Given the description of an element on the screen output the (x, y) to click on. 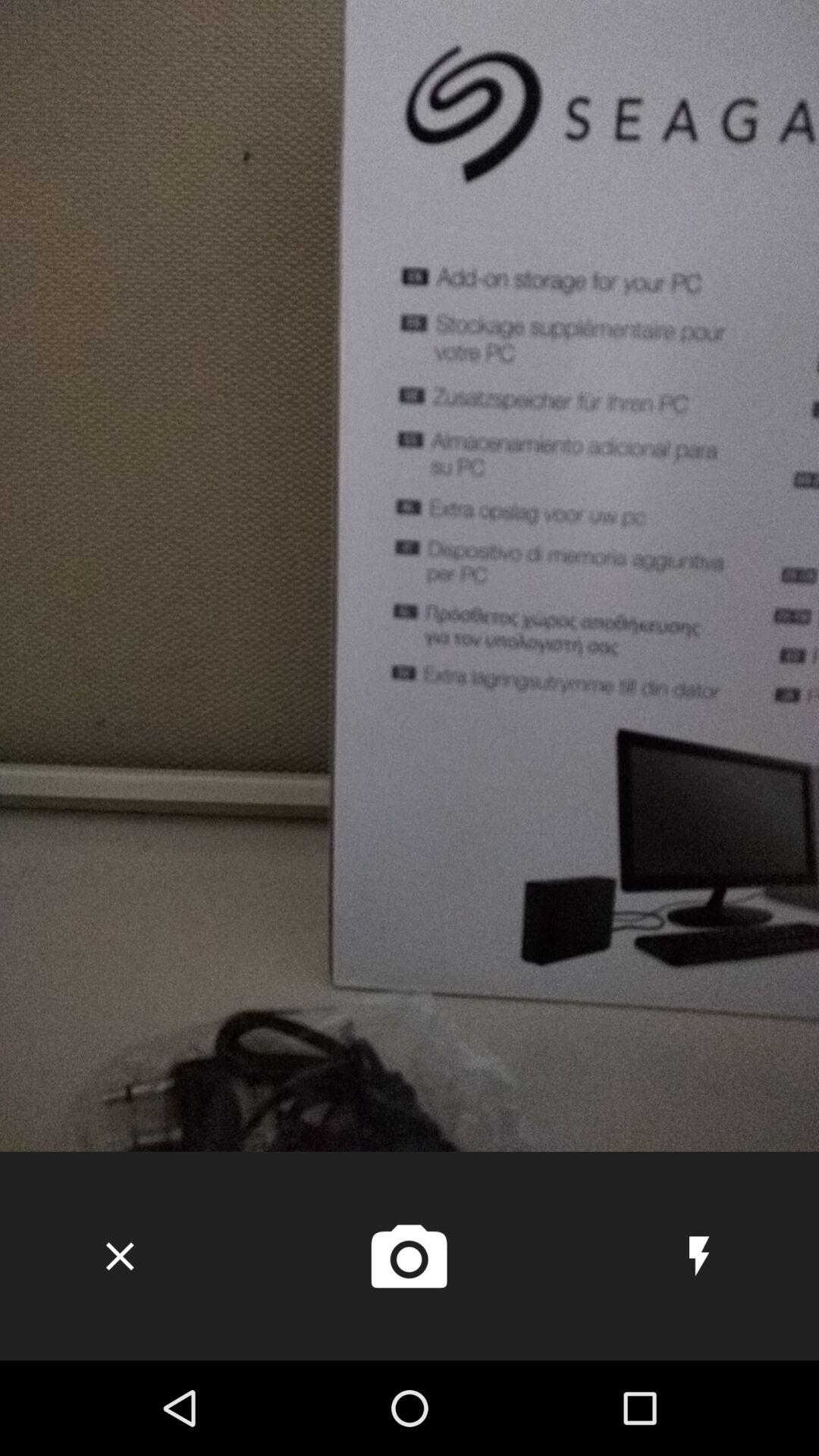
open item at the bottom right corner (699, 1255)
